Given the description of an element on the screen output the (x, y) to click on. 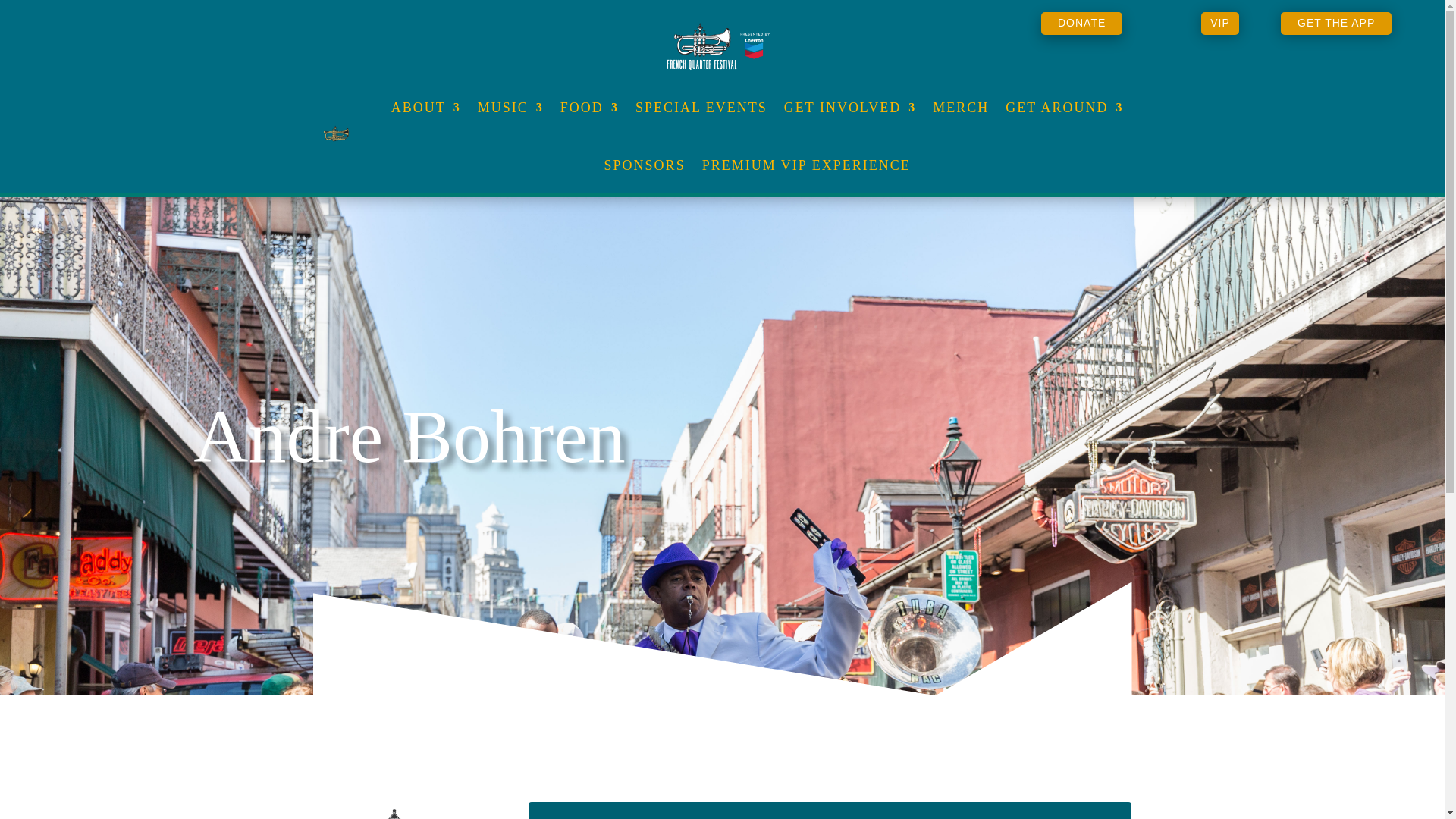
GET THE APP (1336, 23)
VIP (1220, 23)
DONATE (1081, 23)
ABOUT (426, 107)
MUSIC (510, 107)
GET INVOLVED (850, 107)
GET AROUND (1064, 107)
SPECIAL EVENTS (700, 107)
PREMIUM VIP EXPERIENCE (806, 165)
MERCH (960, 107)
FOOD (589, 107)
SPONSORS (644, 165)
